Given the description of an element on the screen output the (x, y) to click on. 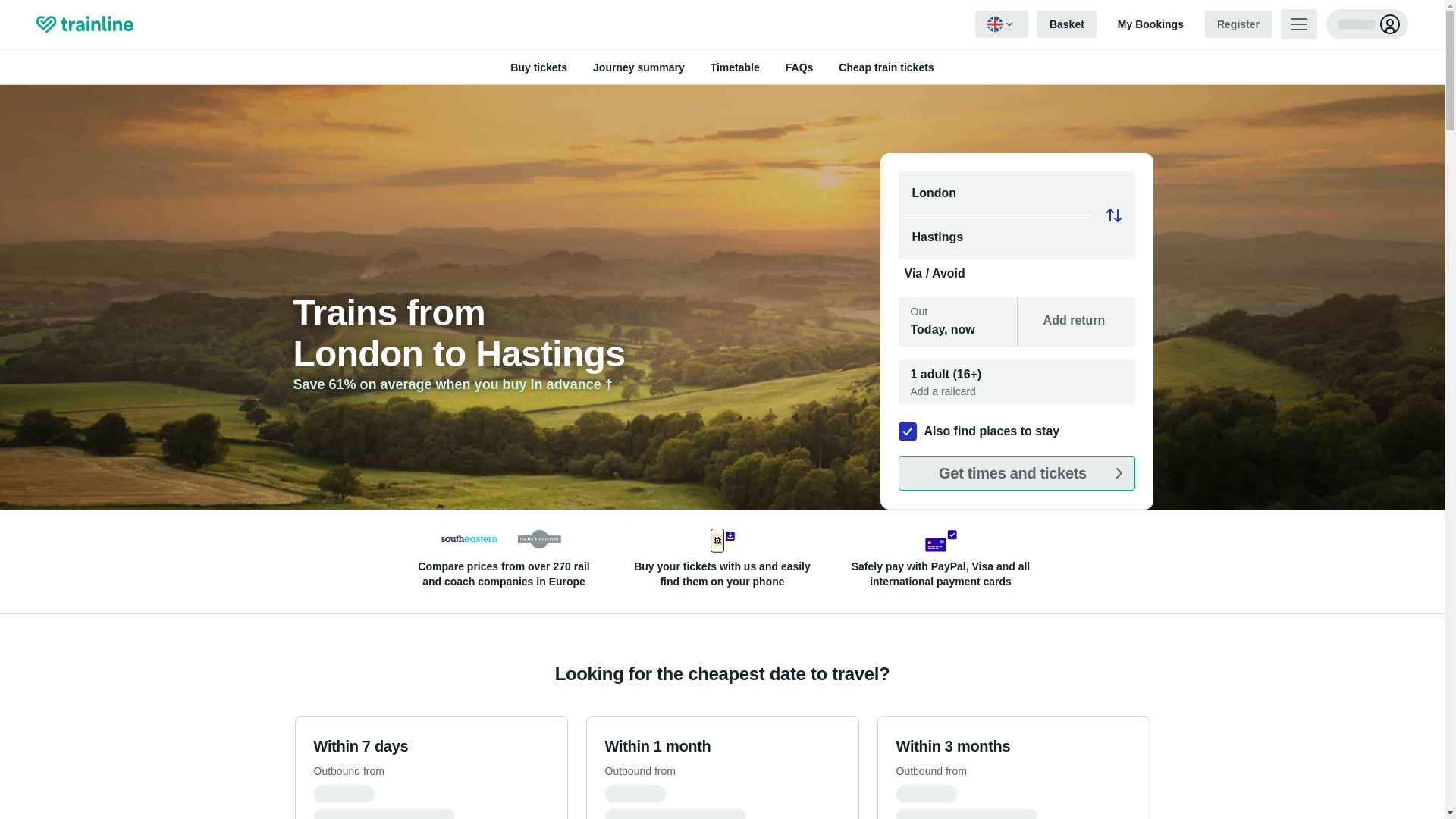
London (1016, 192)
on (906, 431)
London (1016, 192)
Swap stations (1113, 215)
Southeastern (469, 538)
Register (1238, 23)
Hastings (1016, 237)
My Bookings (1150, 23)
Select other passengers (1016, 381)
Southern (539, 538)
